Given the description of an element on the screen output the (x, y) to click on. 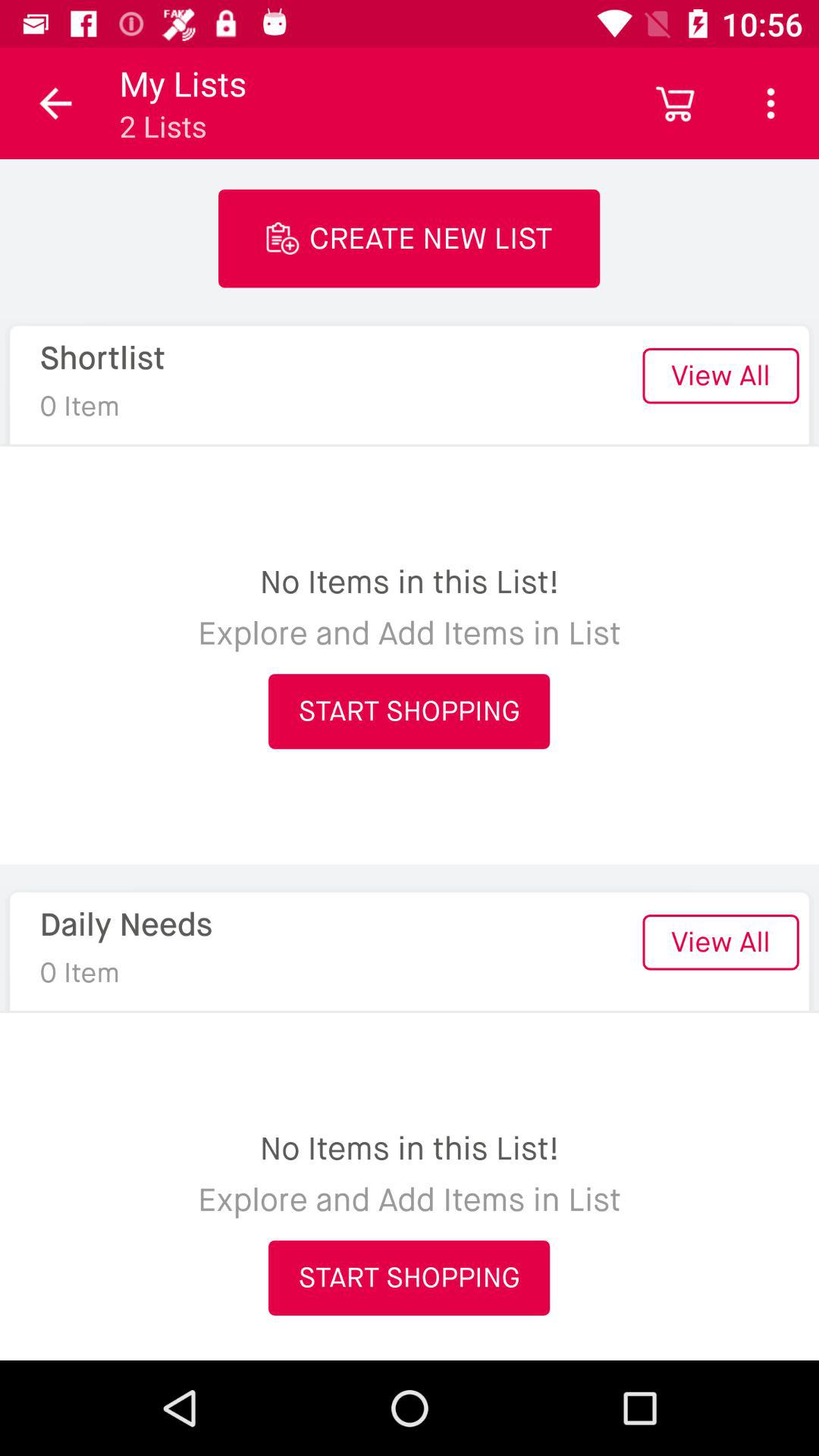
tap item above view all item (771, 103)
